Given the description of an element on the screen output the (x, y) to click on. 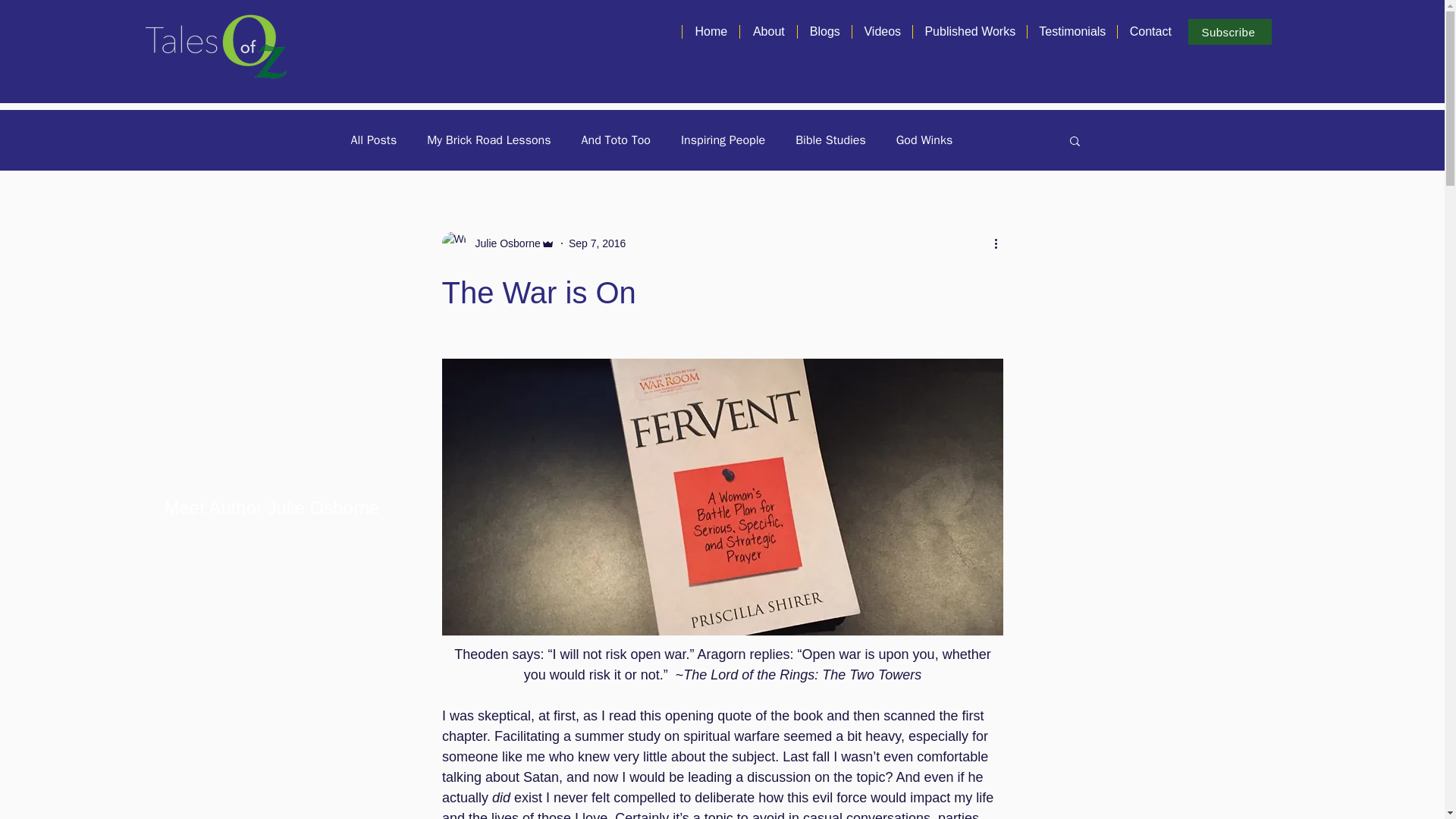
God Winks (924, 139)
Published Works (969, 31)
Home (710, 31)
About (767, 31)
Contact (1149, 31)
My Brick Road Lessons (488, 139)
And Toto Too (615, 139)
Subscribe (1229, 31)
Inspiring People (723, 139)
Bible Studies (830, 139)
